Given the description of an element on the screen output the (x, y) to click on. 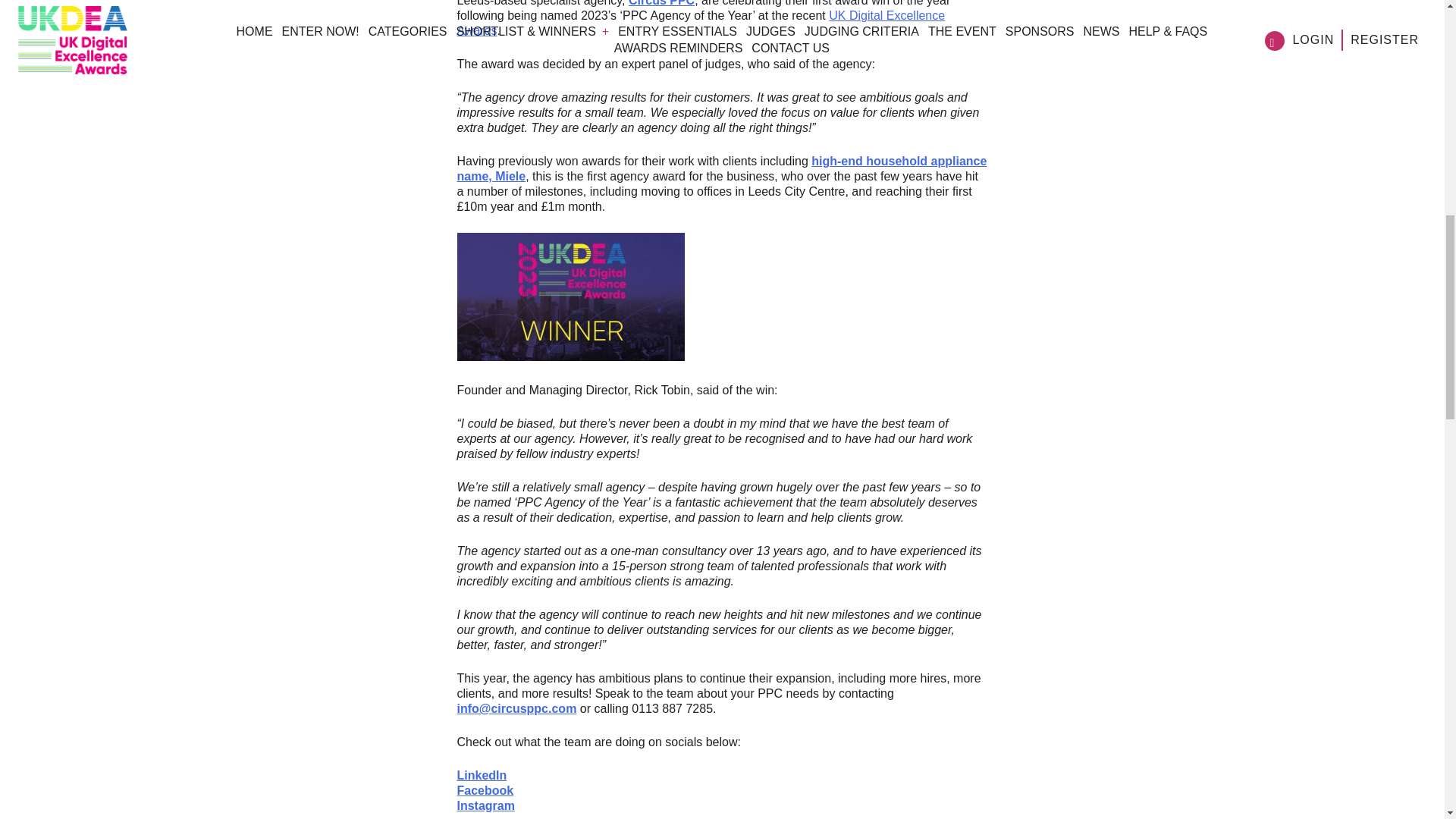
Circus PPC (661, 3)
LinkedIn (481, 775)
Facebook (485, 789)
UK Digital Excellence Awards (700, 22)
Instagram (485, 805)
high-end household appliance name, Miele (722, 168)
